Given the description of an element on the screen output the (x, y) to click on. 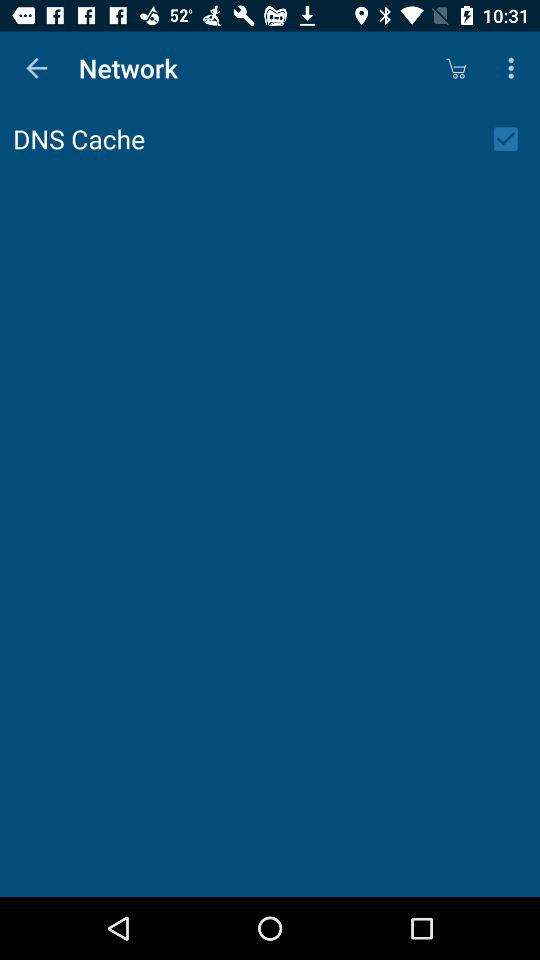
press the item to the left of the network app (36, 68)
